Given the description of an element on the screen output the (x, y) to click on. 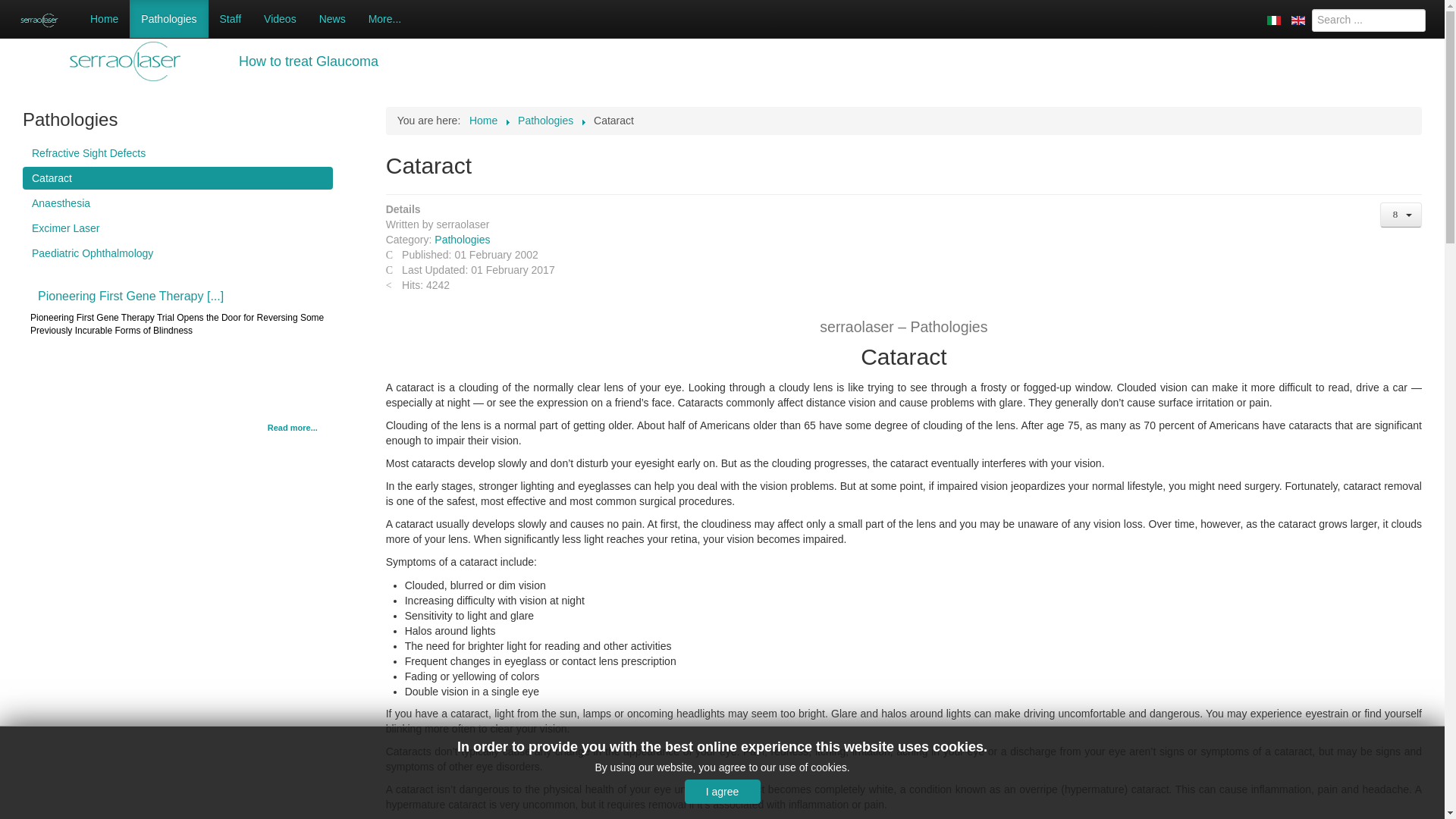
Videos (279, 18)
Refractive Sight Defects (178, 152)
News (331, 18)
Home (103, 18)
Excimer Laser (178, 228)
Italiano (1273, 20)
Anaesthesia (178, 202)
Cataract (178, 178)
More... (384, 18)
Read more... (292, 427)
Paediatric Ophthalmology (178, 252)
Pathologies (168, 18)
Staff (230, 18)
